Given the description of an element on the screen output the (x, y) to click on. 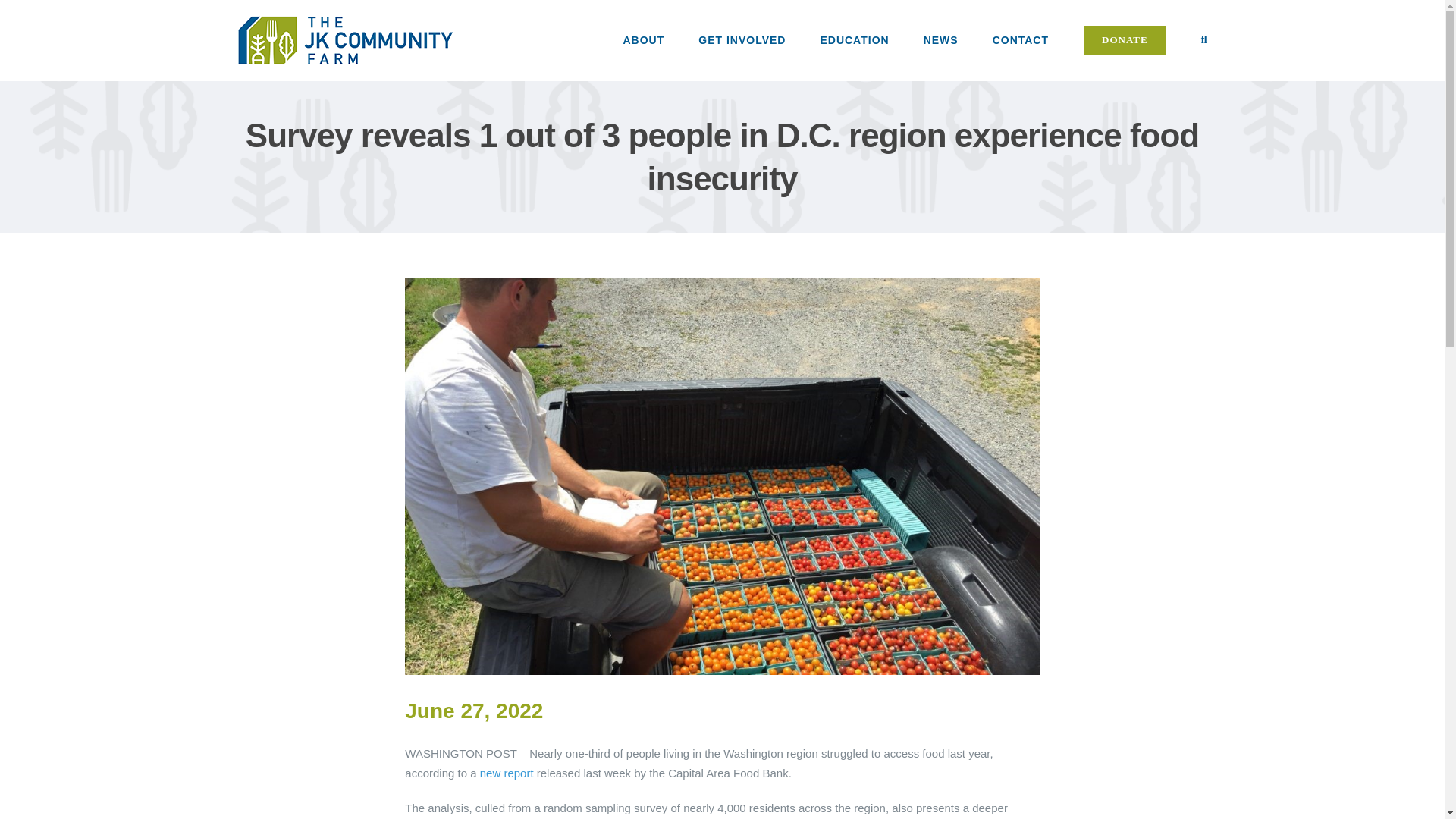
DONATE (1125, 39)
GET INVOLVED (742, 39)
new report  (508, 772)
